Given the description of an element on the screen output the (x, y) to click on. 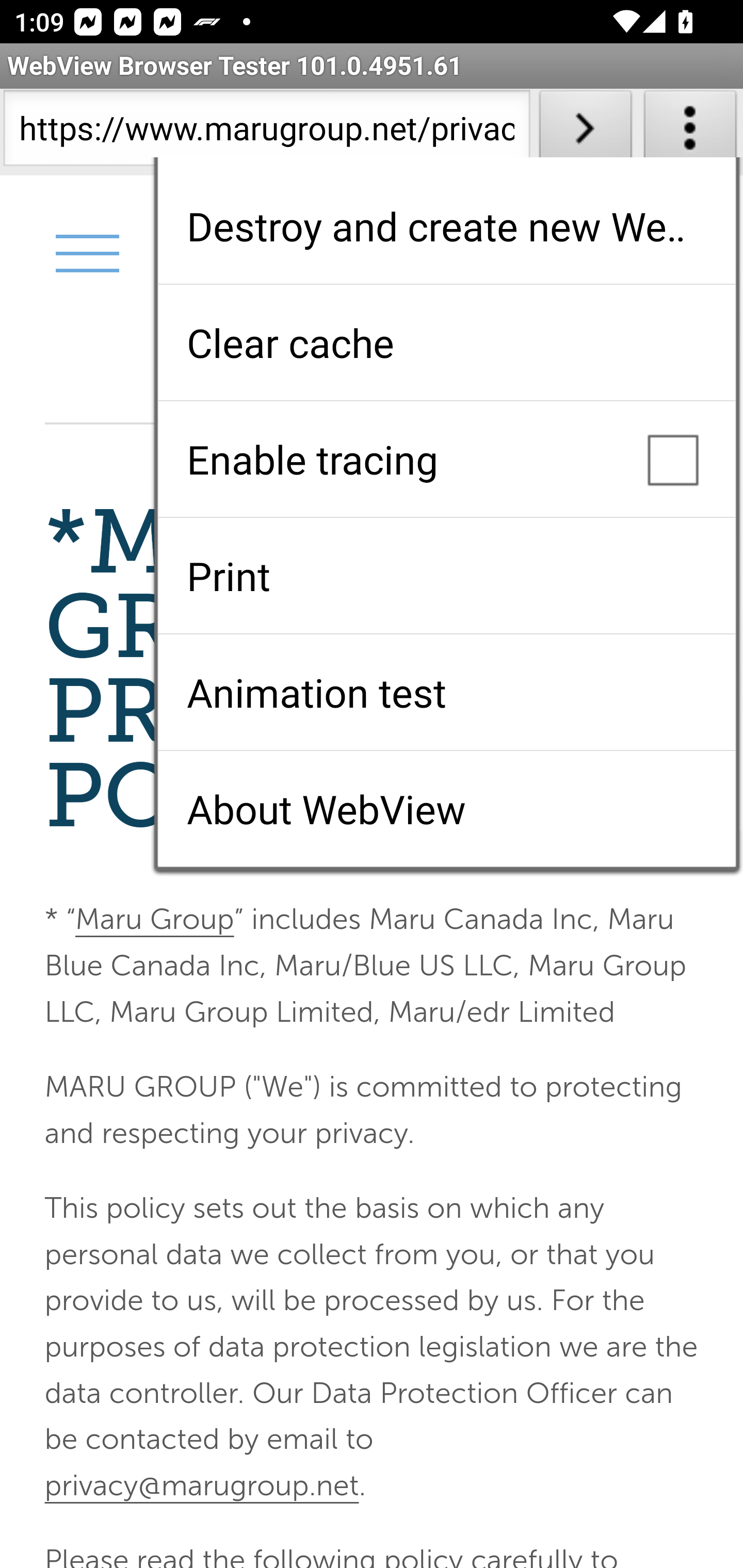
Destroy and create new WebView (446, 225)
Clear cache (446, 342)
Enable tracing (446, 459)
Print (446, 575)
Animation test (446, 692)
About WebView (446, 809)
